Given the description of an element on the screen output the (x, y) to click on. 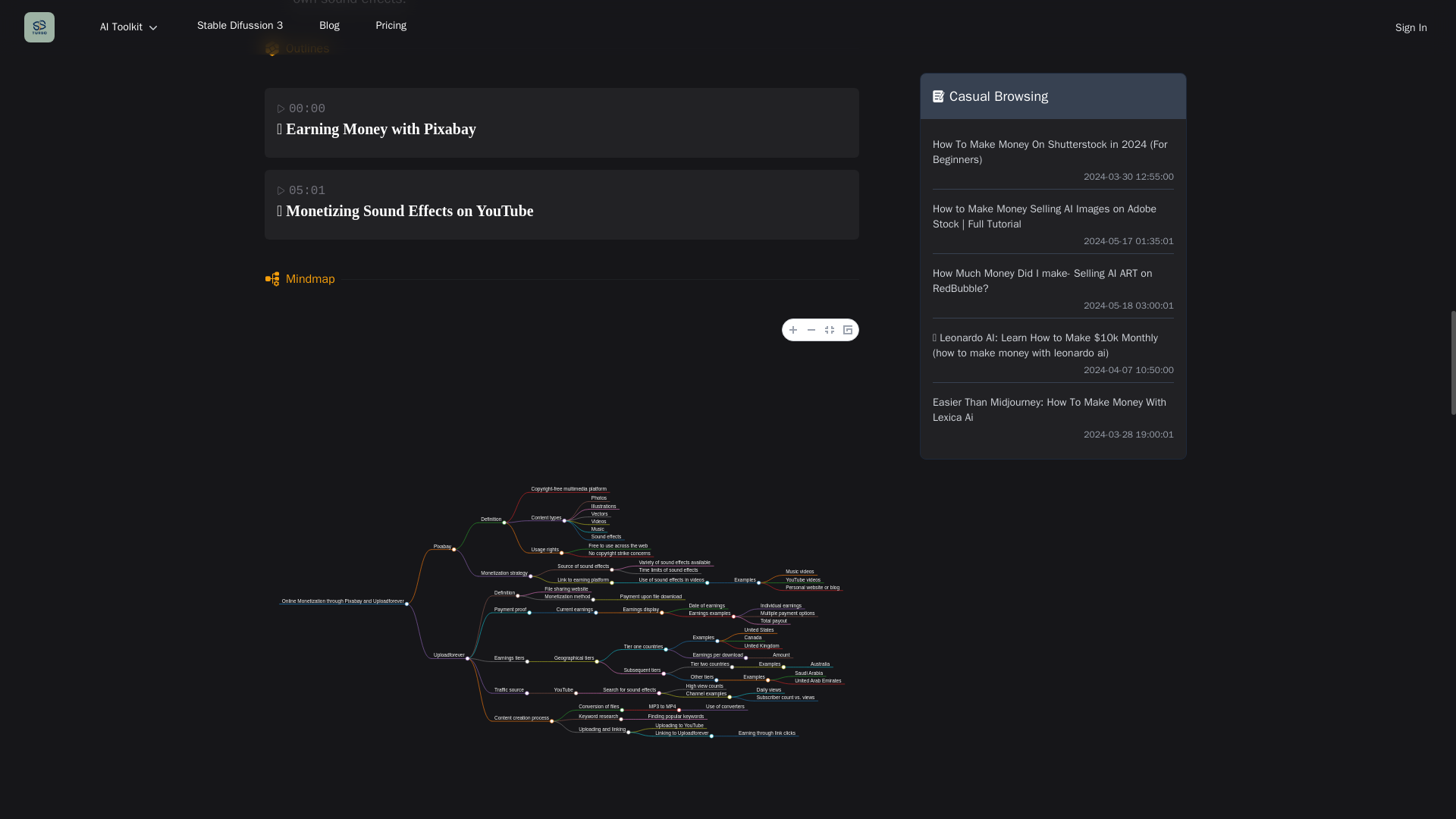
Zoom in (793, 329)
Fit window size (829, 329)
Toggle recursively (848, 329)
Zoom out (810, 329)
